Given the description of an element on the screen output the (x, y) to click on. 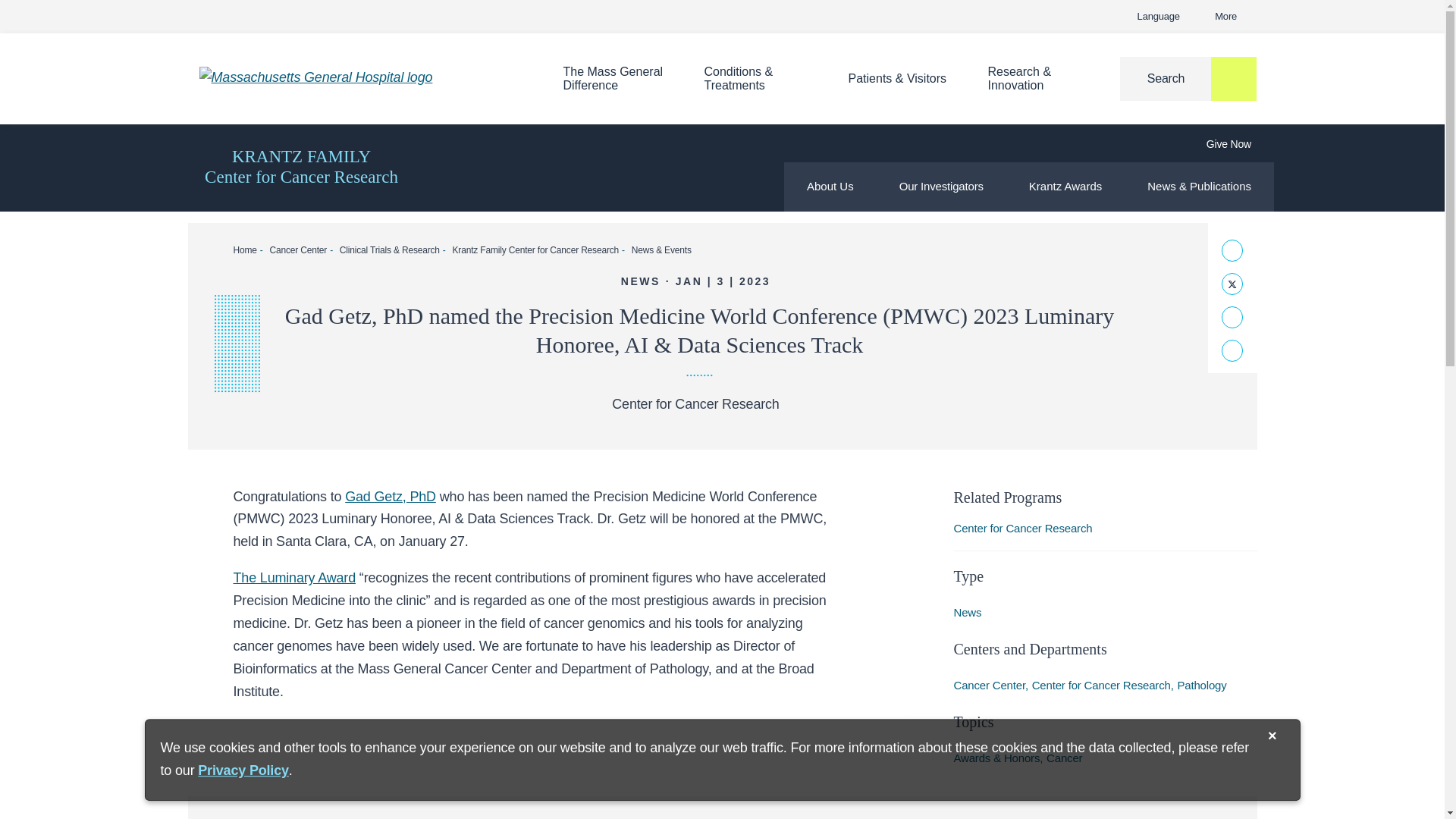
Language (612, 78)
Home (1160, 16)
More (357, 77)
